Given the description of an element on the screen output the (x, y) to click on. 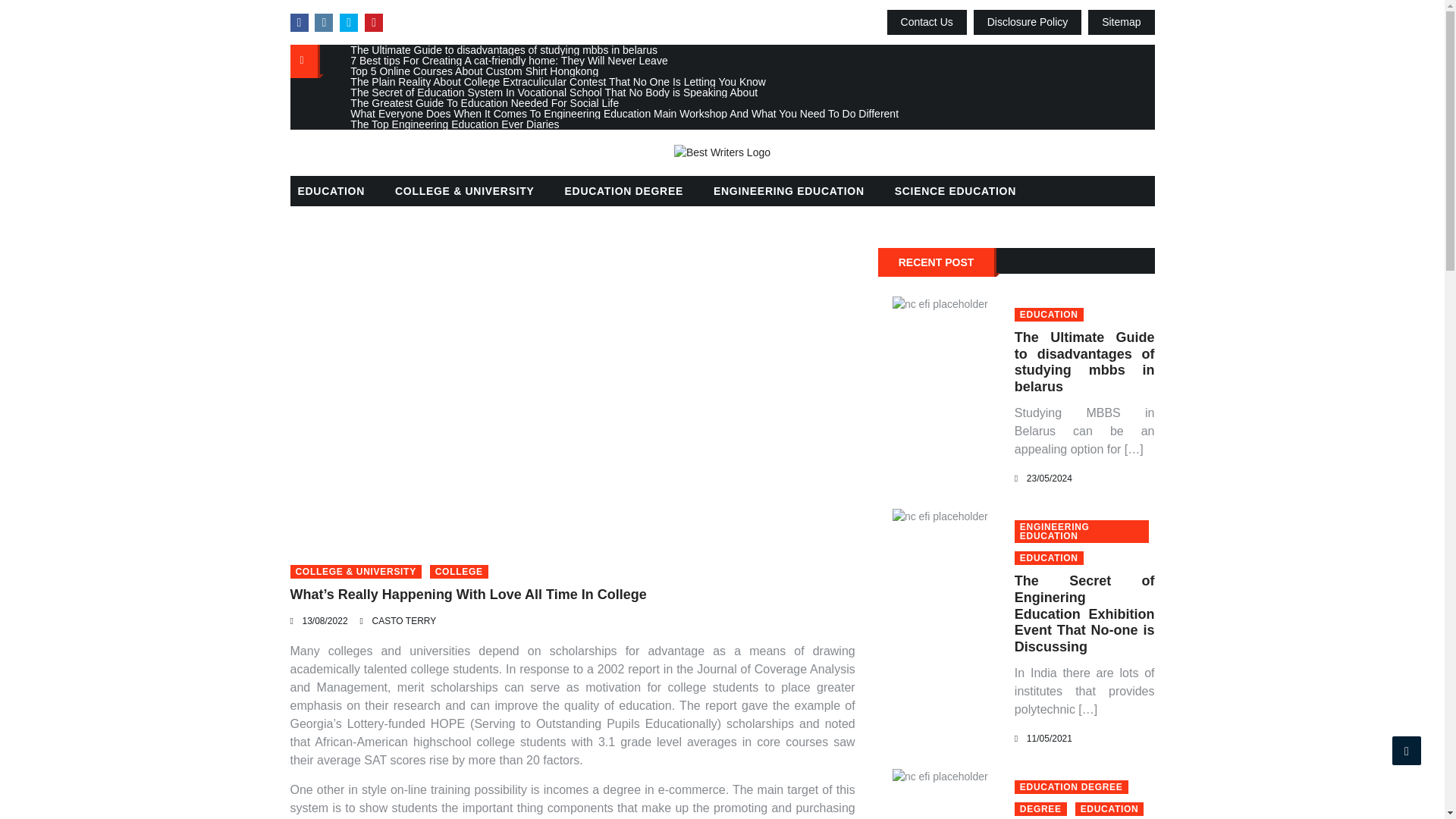
EDUCATION (1048, 558)
COLLEGE (458, 571)
Sitemap (1120, 22)
Disclosure Policy (1027, 22)
EDUCATION (1048, 314)
Instagram (323, 22)
CASTO TERRY (404, 620)
Twitter (348, 22)
